Given the description of an element on the screen output the (x, y) to click on. 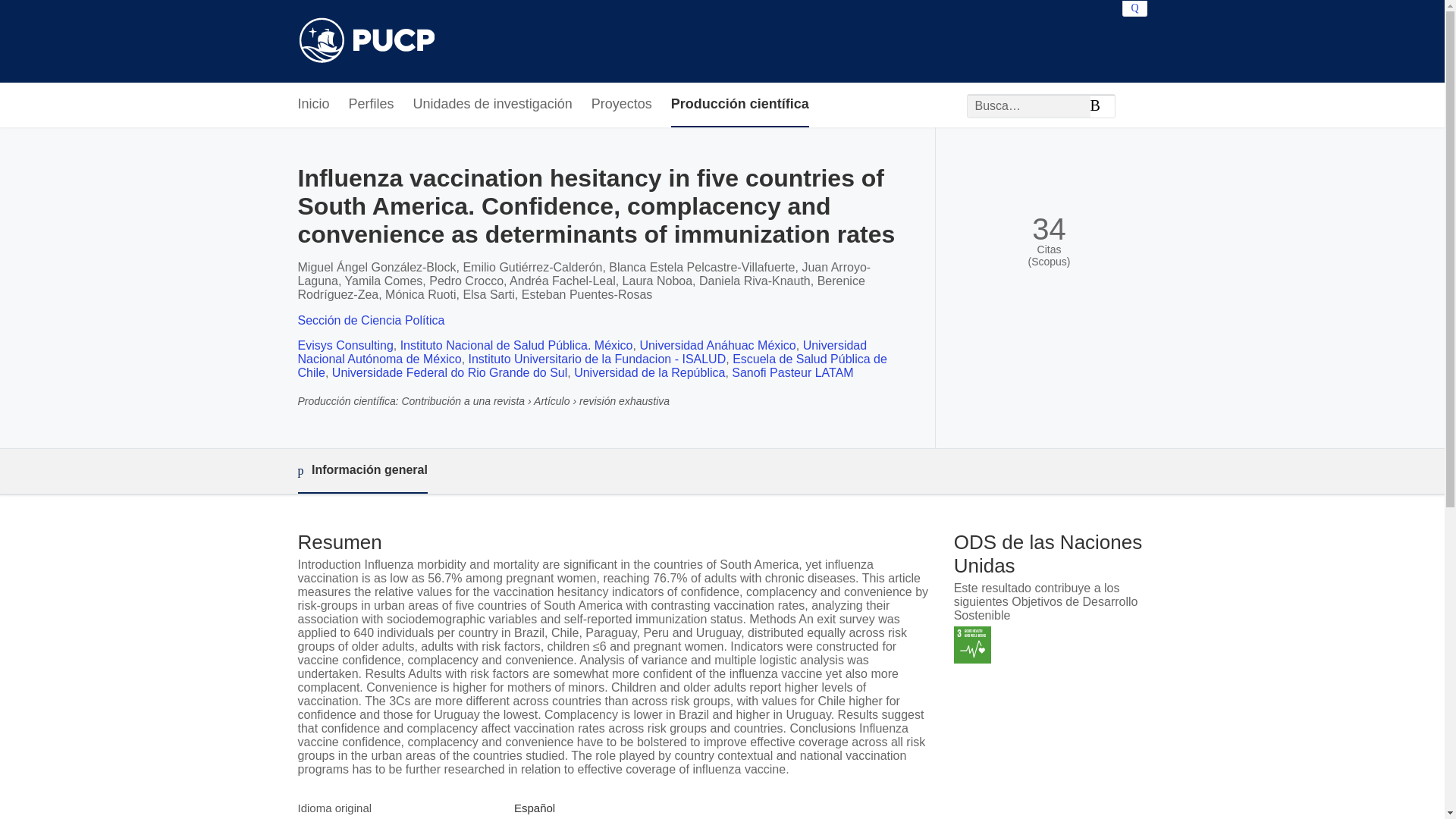
Sanofi Pasteur LATAM (792, 372)
Proyectos (621, 104)
Evisys Consulting (345, 345)
Perfiles (371, 104)
Instituto Universitario de la Fundacion - ISALUD (597, 358)
Universidade Federal do Rio Grande do Sul (449, 372)
